Given the description of an element on the screen output the (x, y) to click on. 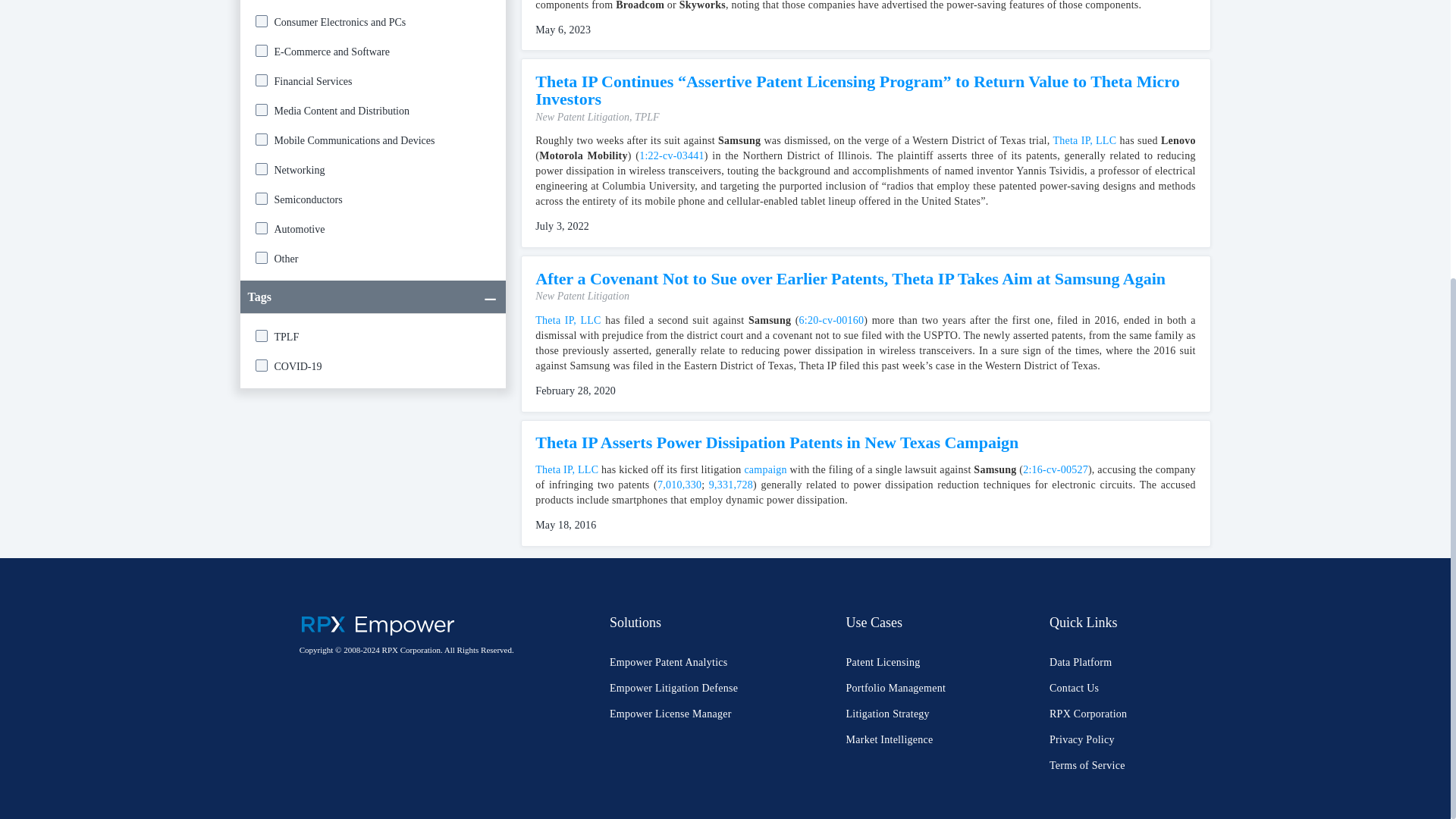
Theta IP, LLC (1084, 140)
1:22-cv-03441 (671, 155)
Theta IP, LLC (567, 319)
